Given the description of an element on the screen output the (x, y) to click on. 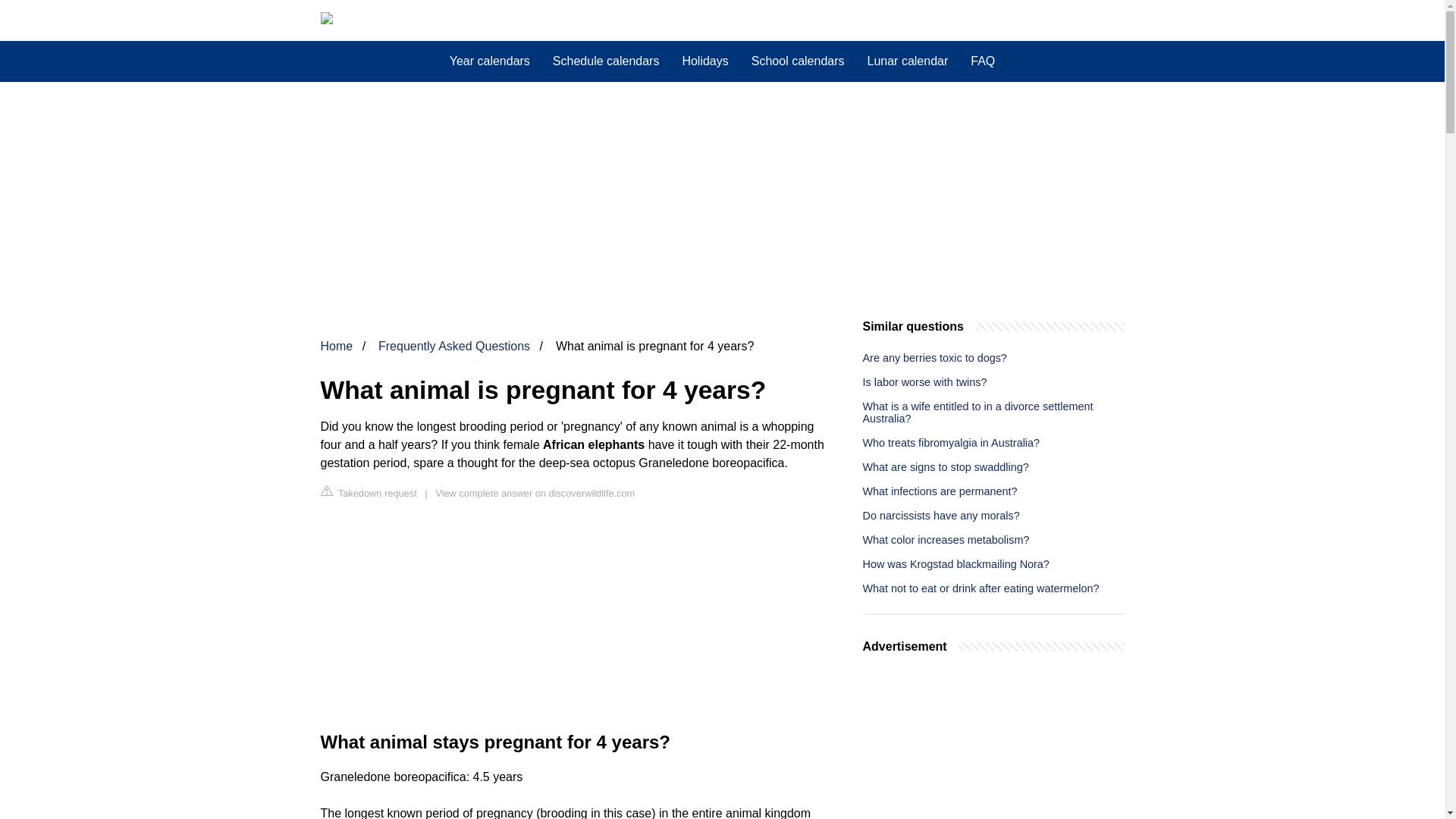
View complete answer on discoverwildlife.com (534, 492)
Lunar calendar (907, 60)
Year calendars (489, 60)
FAQ (982, 60)
Schedule calendars (606, 60)
Takedown request (368, 492)
Holidays (704, 60)
Home (336, 345)
School calendars (797, 60)
Frequently Asked Questions (453, 345)
